Given the description of an element on the screen output the (x, y) to click on. 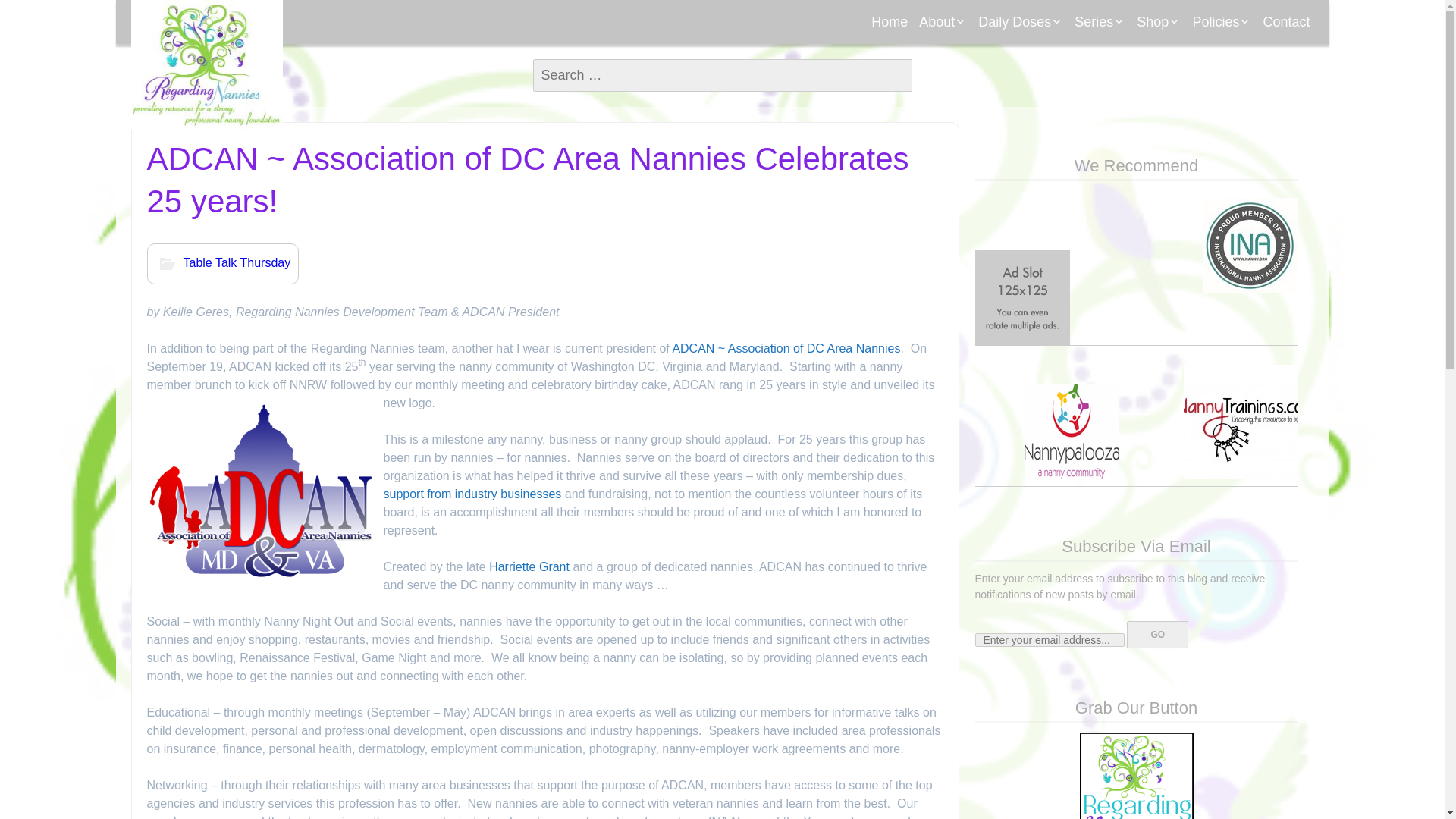
Anatomy of Work Agreement (1146, 61)
Shop (1158, 22)
Series (1099, 22)
Home (889, 22)
Monday Moxie (1049, 54)
About Regarding Nannies (991, 61)
Amazon (1208, 54)
clearbackADCANLOGO new (260, 490)
Regarding Nannies (206, 65)
Daily Doses (1020, 22)
Disclosure (1263, 54)
Policies (1221, 22)
Go (1157, 634)
Contact (1286, 22)
About (943, 22)
